Given the description of an element on the screen output the (x, y) to click on. 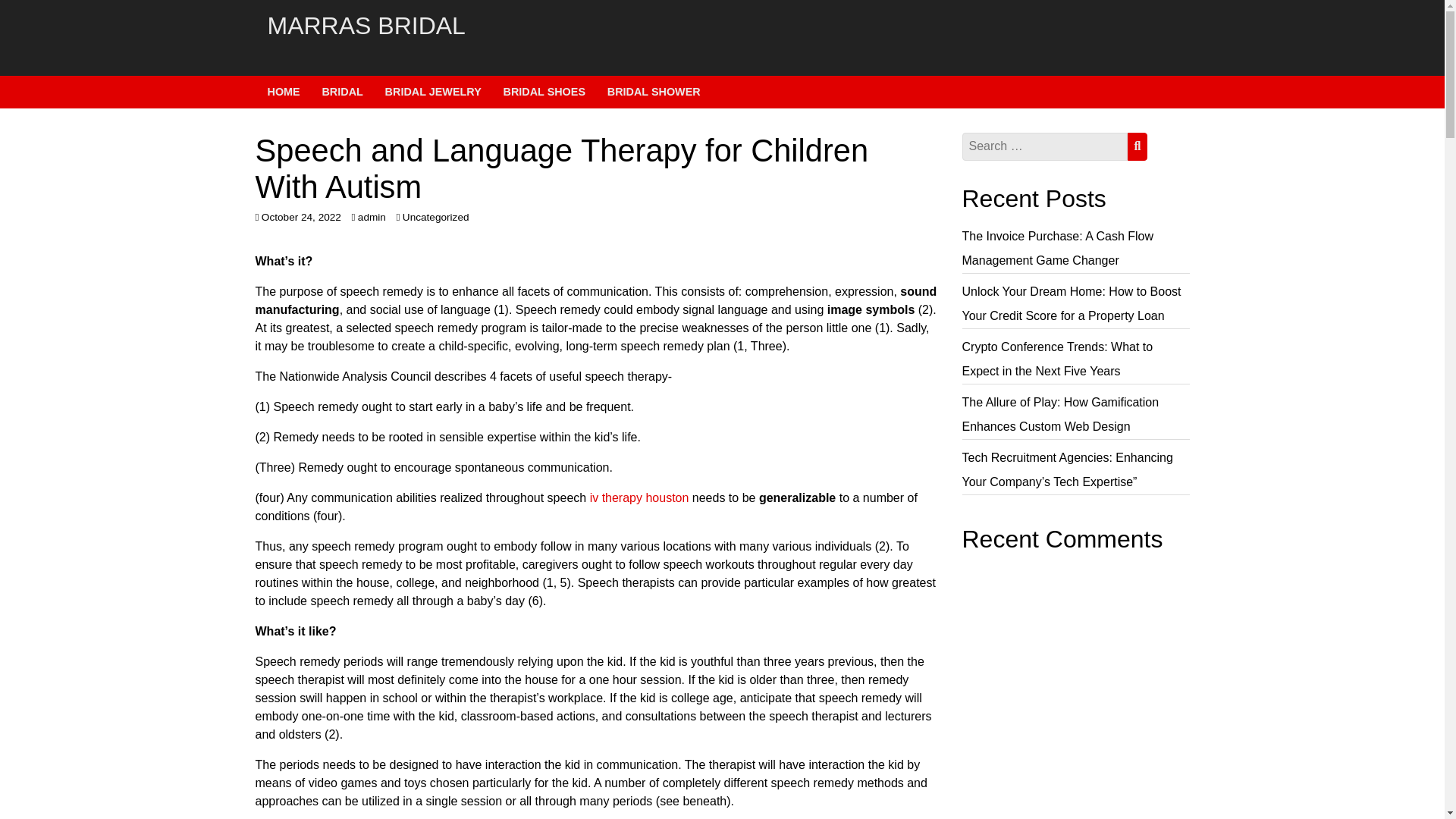
Uncategorized (435, 216)
HOME (282, 91)
BRIDAL JEWELRY (433, 91)
BRIDAL SHOES (544, 91)
BRIDAL (341, 91)
BRIDAL SHOWER (653, 91)
The Invoice Purchase: A Cash Flow Management Game Changer (1056, 248)
